Given the description of an element on the screen output the (x, y) to click on. 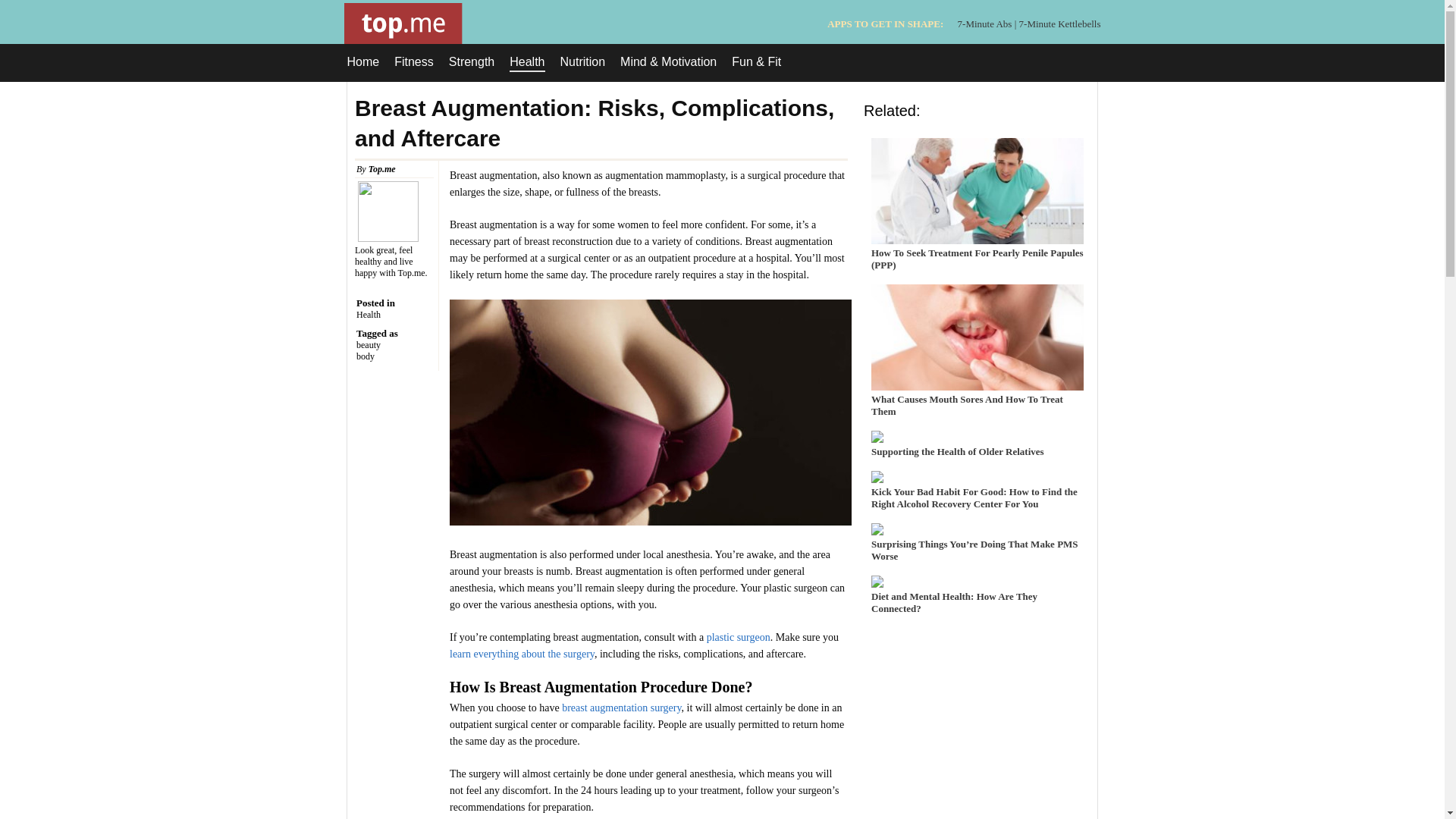
Nutrition (582, 61)
Health (526, 63)
beauty (394, 345)
learn everything about the surgery (521, 654)
What Causes Mouth Sores And How To Treat Them (976, 399)
breast augmentation surgery (621, 707)
Top.me (382, 168)
Supporting the Health of Older Relatives (976, 445)
View all posts by Top.me (382, 168)
